Given the description of an element on the screen output the (x, y) to click on. 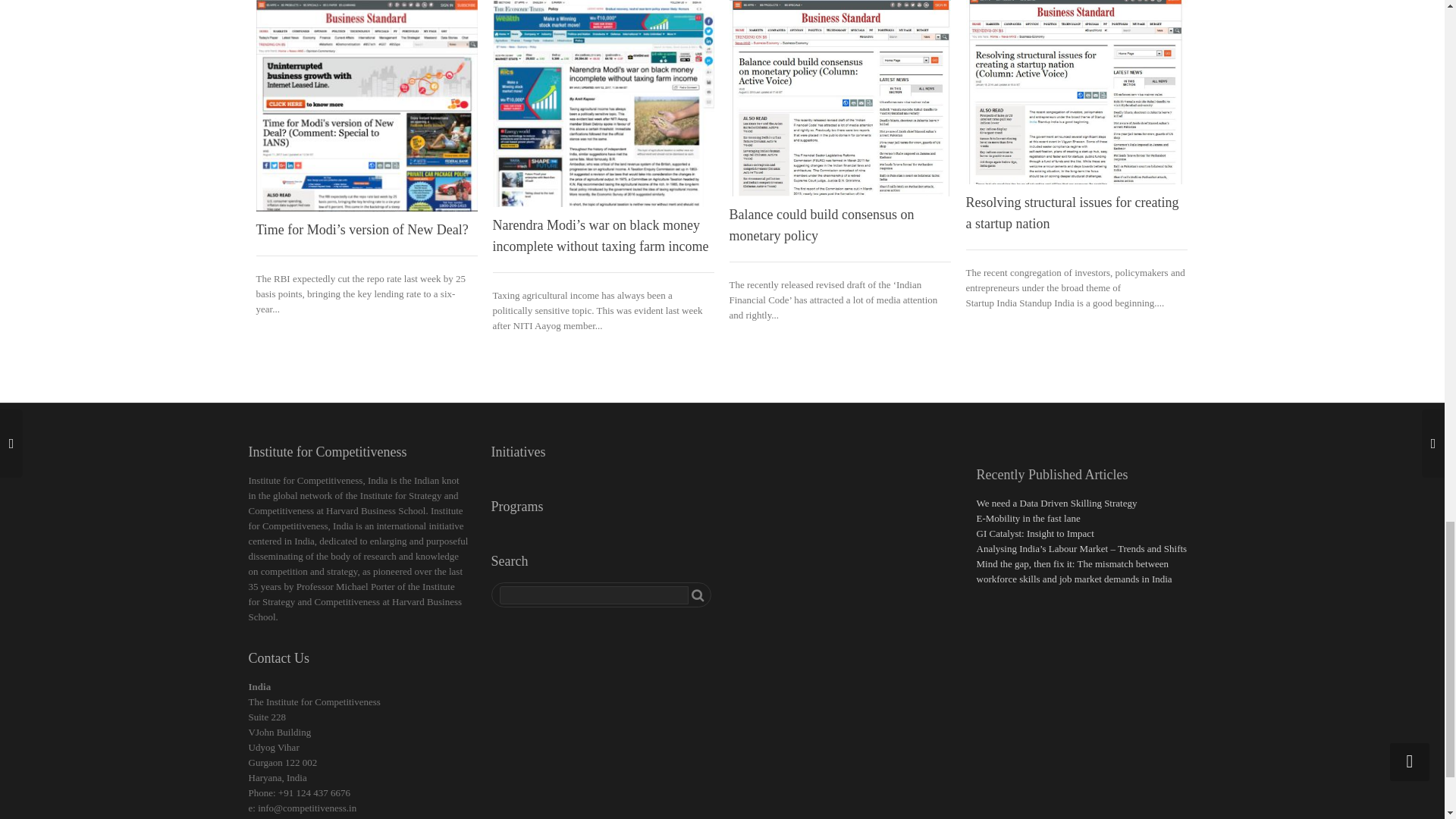
Search (697, 595)
Search (697, 595)
